Given the description of an element on the screen output the (x, y) to click on. 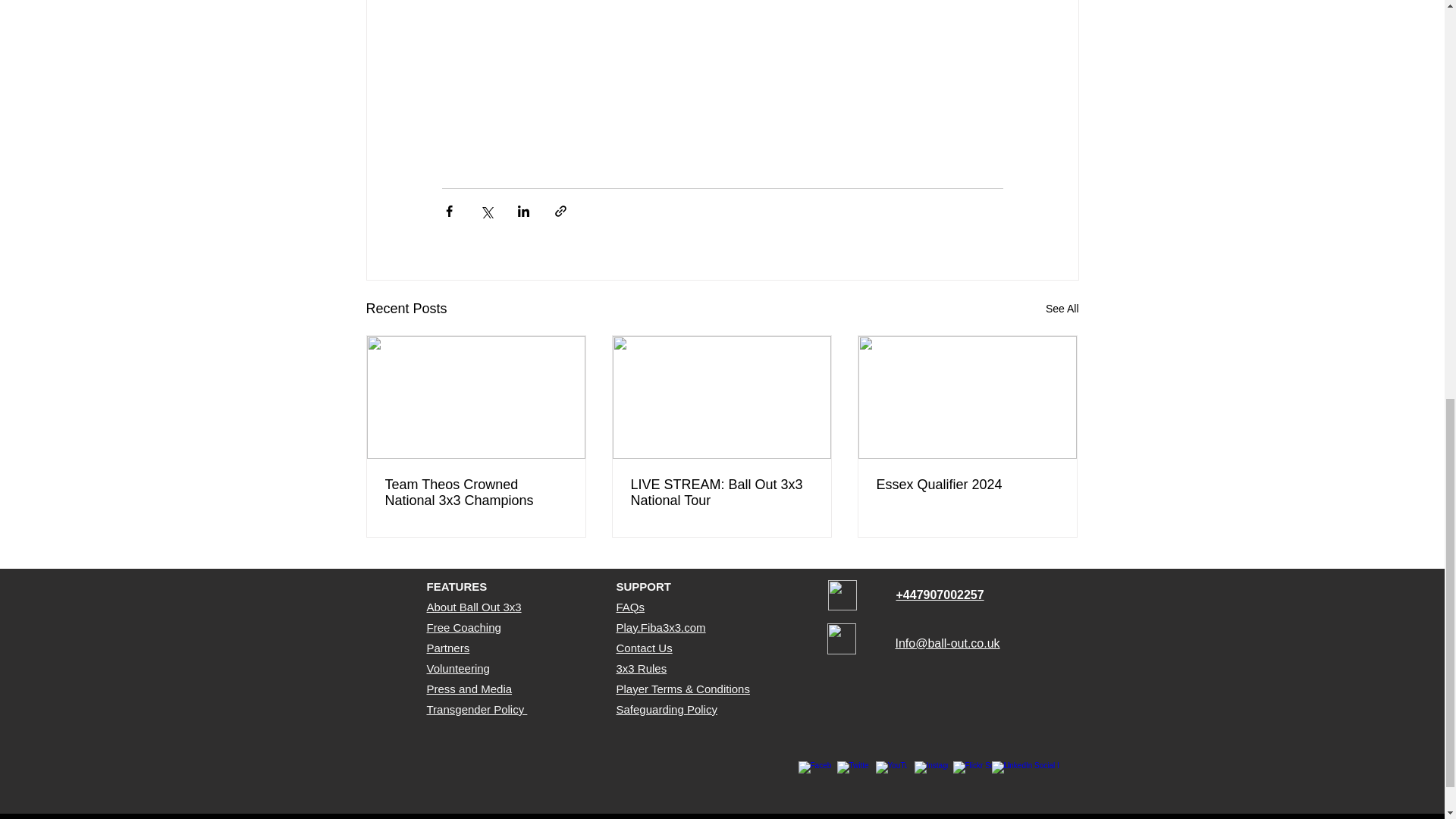
3x3 Rules (640, 667)
Essex Qualifier 2024 (967, 484)
SUPPORT (643, 585)
About Ball Out 3x3 (473, 606)
Free Coaching (463, 626)
Volunteering (457, 667)
Press and Media (469, 688)
Play.Fiba3x3.com (659, 626)
Partners (447, 647)
Safeguarding Policy (665, 708)
